Given the description of an element on the screen output the (x, y) to click on. 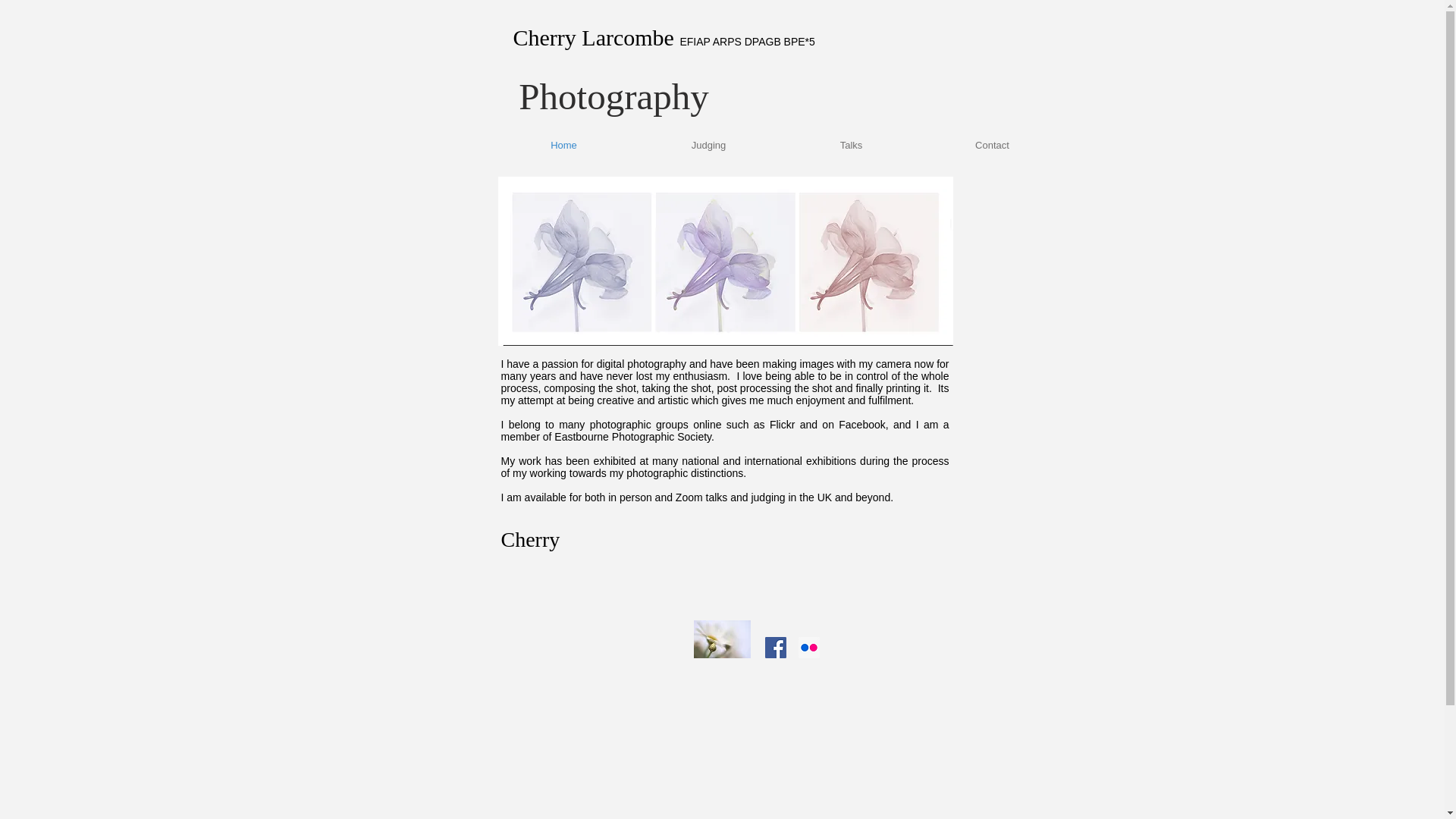
Home (564, 145)
Cherry Larcombe  (626, 138)
Cherry Larcombe  (595, 37)
Judging (708, 145)
Contact (991, 145)
Talks (851, 145)
